Given the description of an element on the screen output the (x, y) to click on. 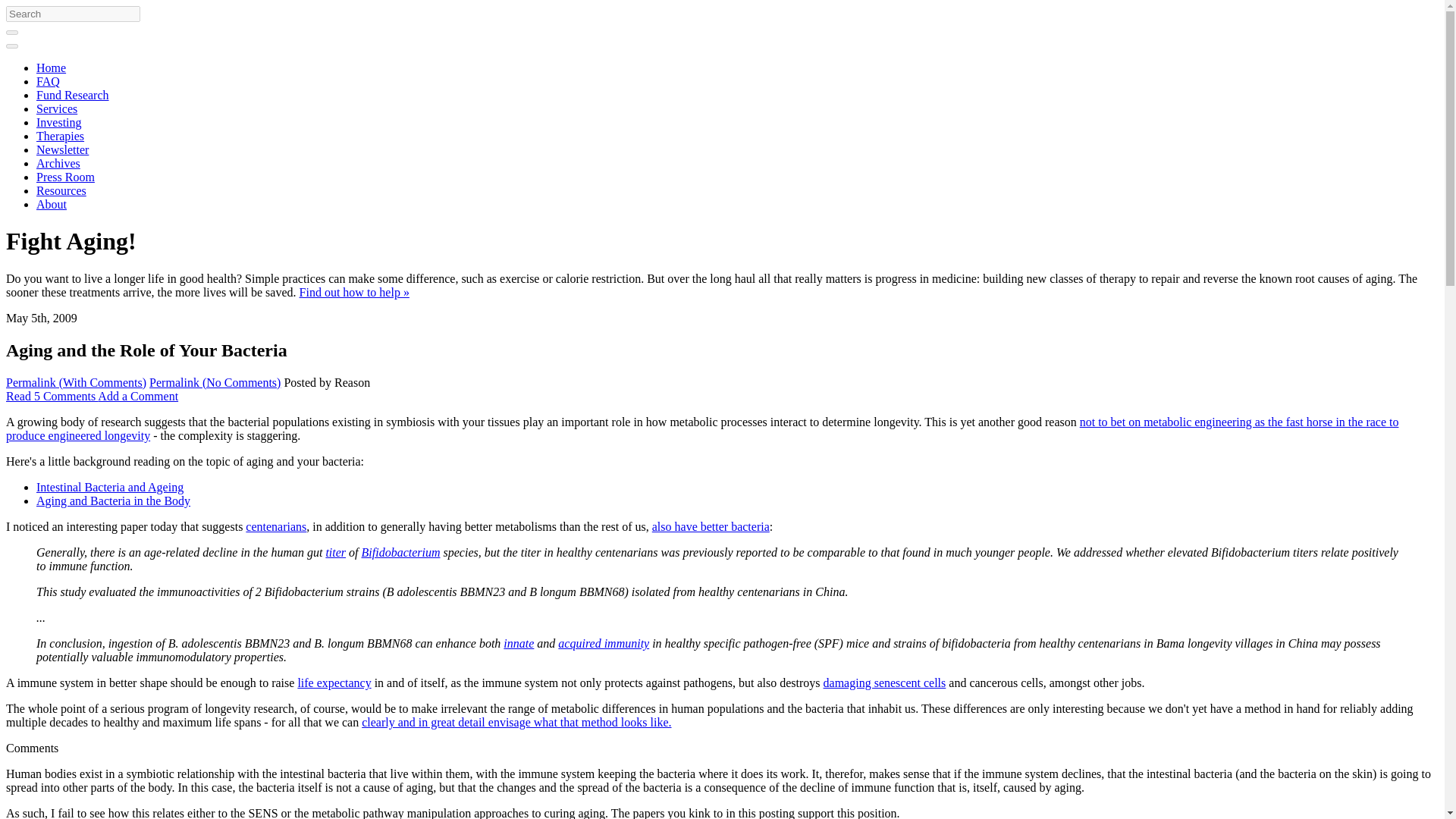
innate (518, 643)
also have better bacteria (711, 526)
acquired immunity (603, 643)
Newsletter (62, 149)
Services (56, 108)
About (51, 204)
centenarians (275, 526)
life expectancy (334, 682)
Press Room (65, 176)
Archives (58, 163)
